Given the description of an element on the screen output the (x, y) to click on. 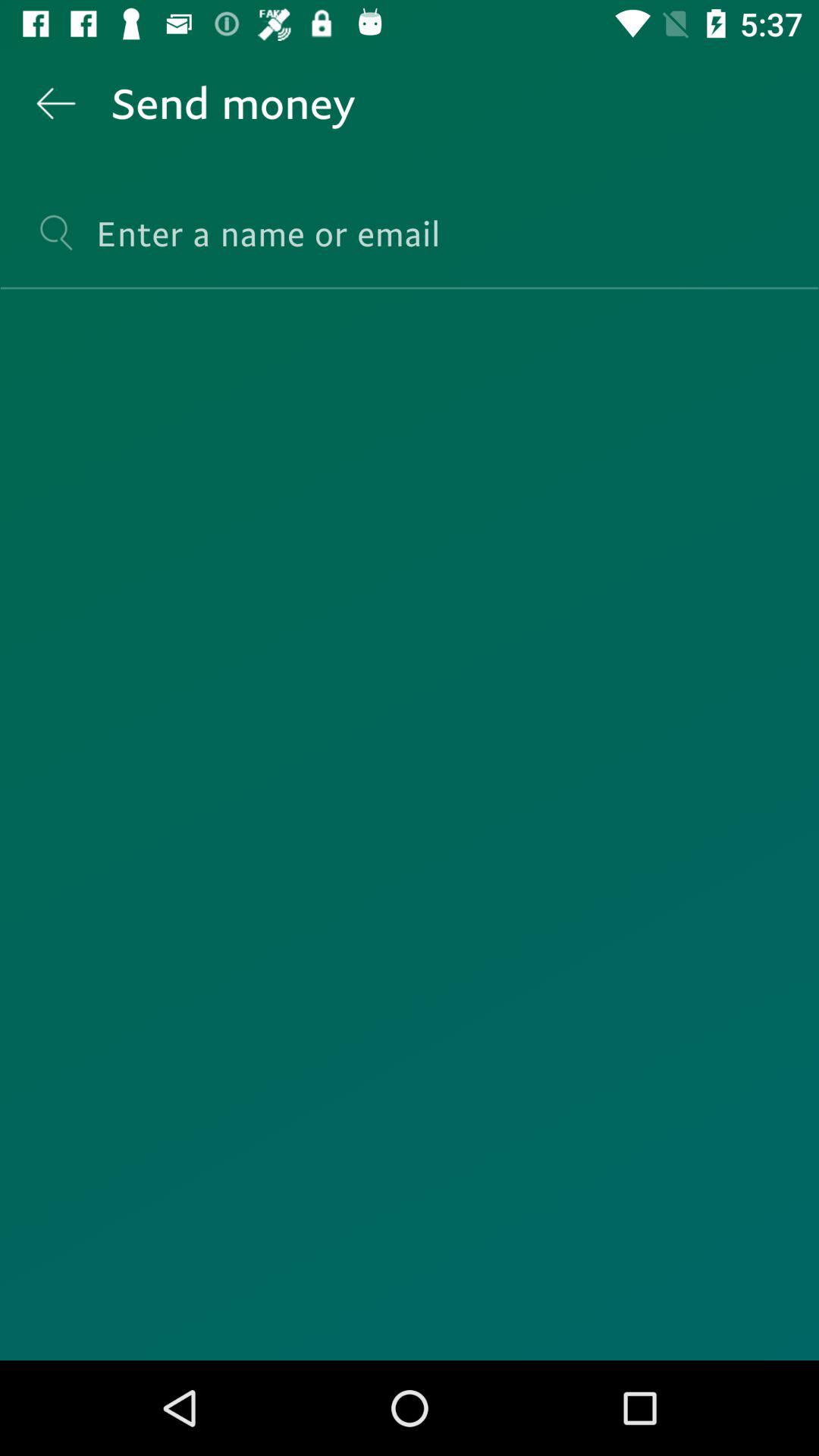
search name or email (409, 246)
